Given the description of an element on the screen output the (x, y) to click on. 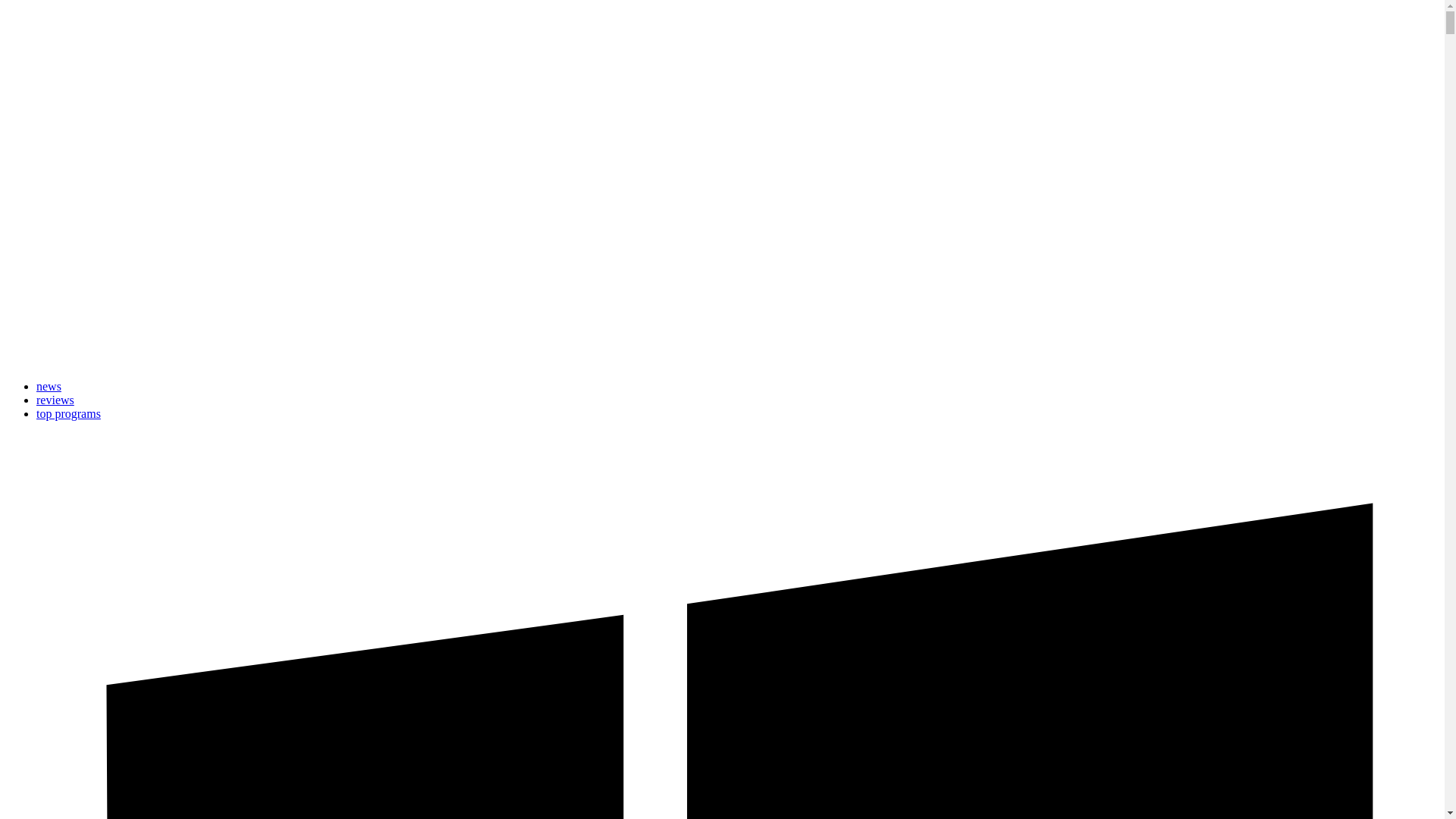
Top Programs (68, 413)
news (48, 386)
Reviews (55, 399)
reviews (55, 399)
News (48, 386)
top programs (68, 413)
